Given the description of an element on the screen output the (x, y) to click on. 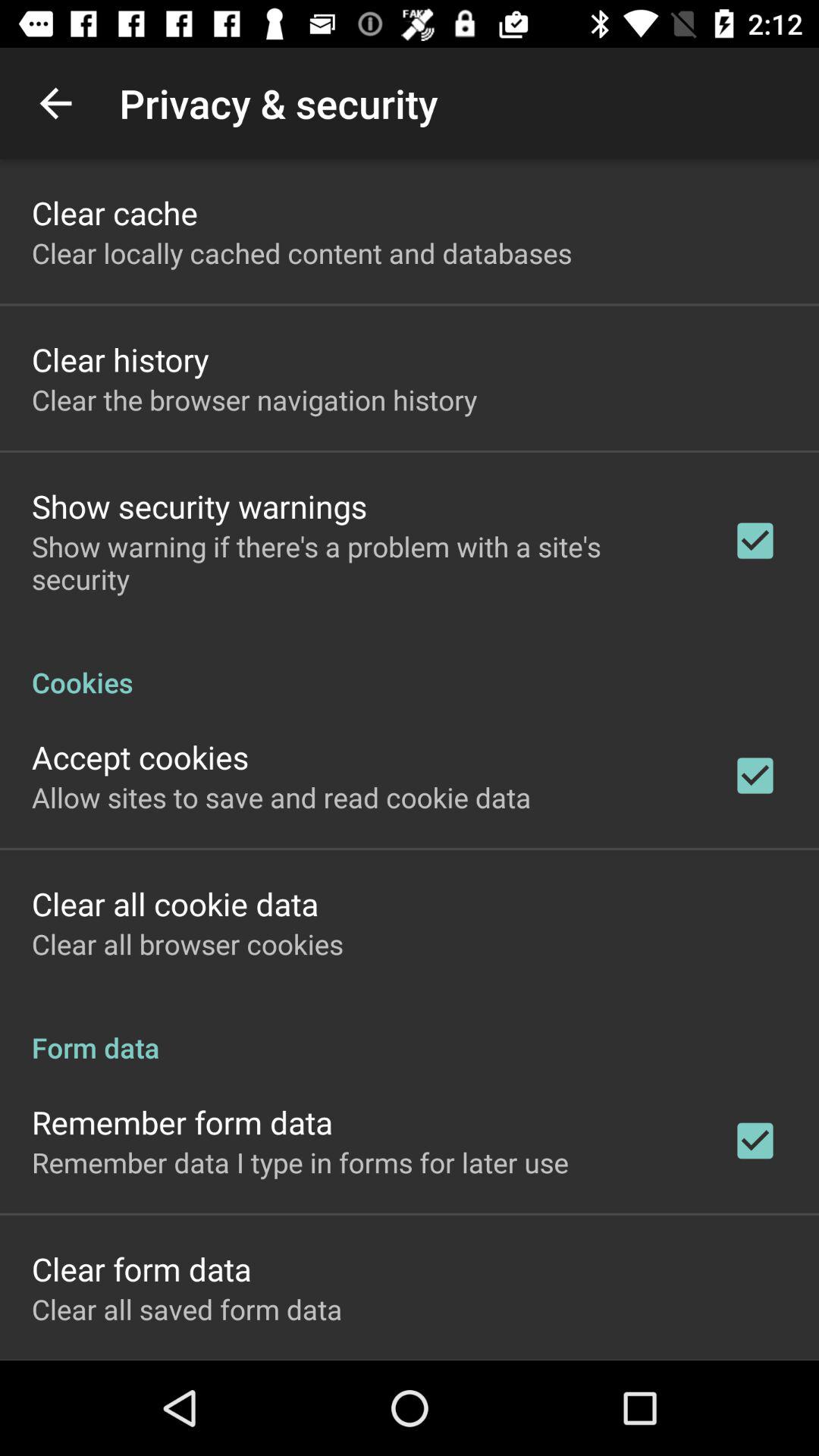
click the item above the clear all cookie app (281, 797)
